Given the description of an element on the screen output the (x, y) to click on. 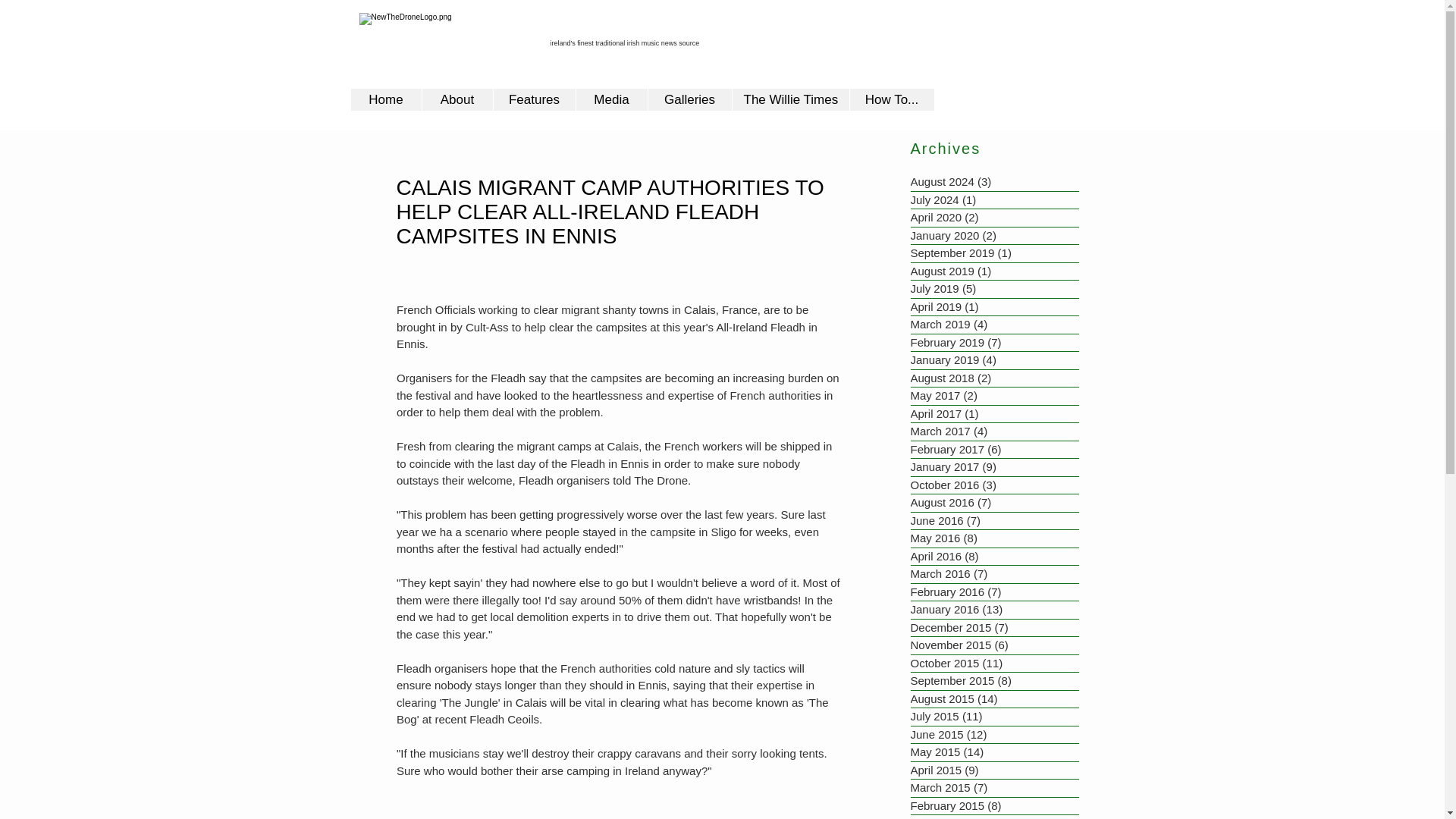
How To... (891, 99)
About (457, 99)
Galleries (689, 99)
Media (610, 99)
The Willie Times (789, 99)
Features (534, 99)
Home (385, 99)
